Given the description of an element on the screen output the (x, y) to click on. 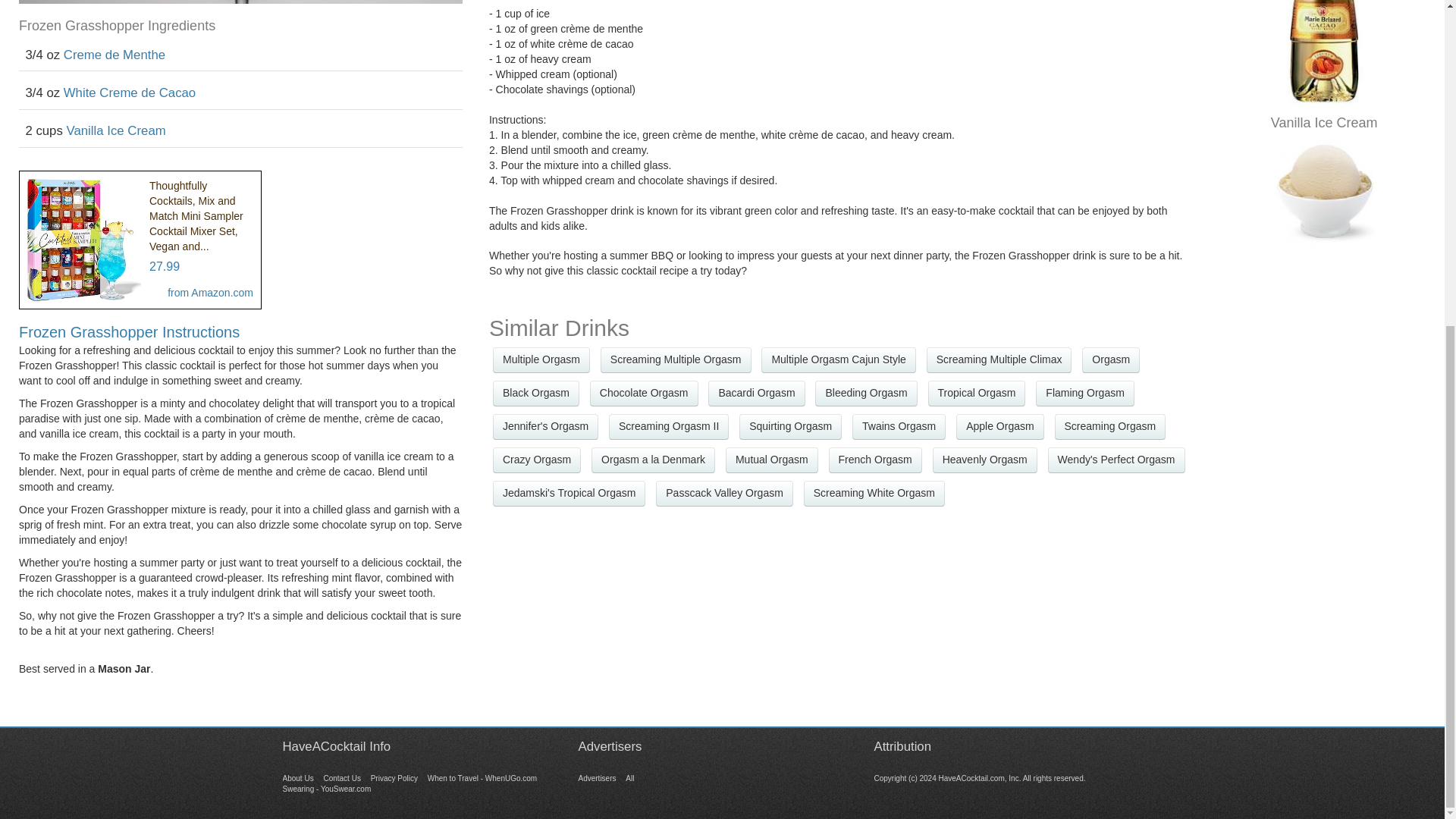
When to Travel (482, 777)
Drinking Games (629, 777)
Creme de Menthe (114, 54)
White Creme de Cacao (1323, 54)
Contact Us (341, 777)
Advertisers (596, 777)
Swearing (326, 788)
White Creme de Cacao (129, 92)
Browse Ingredients (394, 777)
Browse Cocktail Recipes (297, 777)
Vanilla Ice Cream (1323, 195)
